Given the description of an element on the screen output the (x, y) to click on. 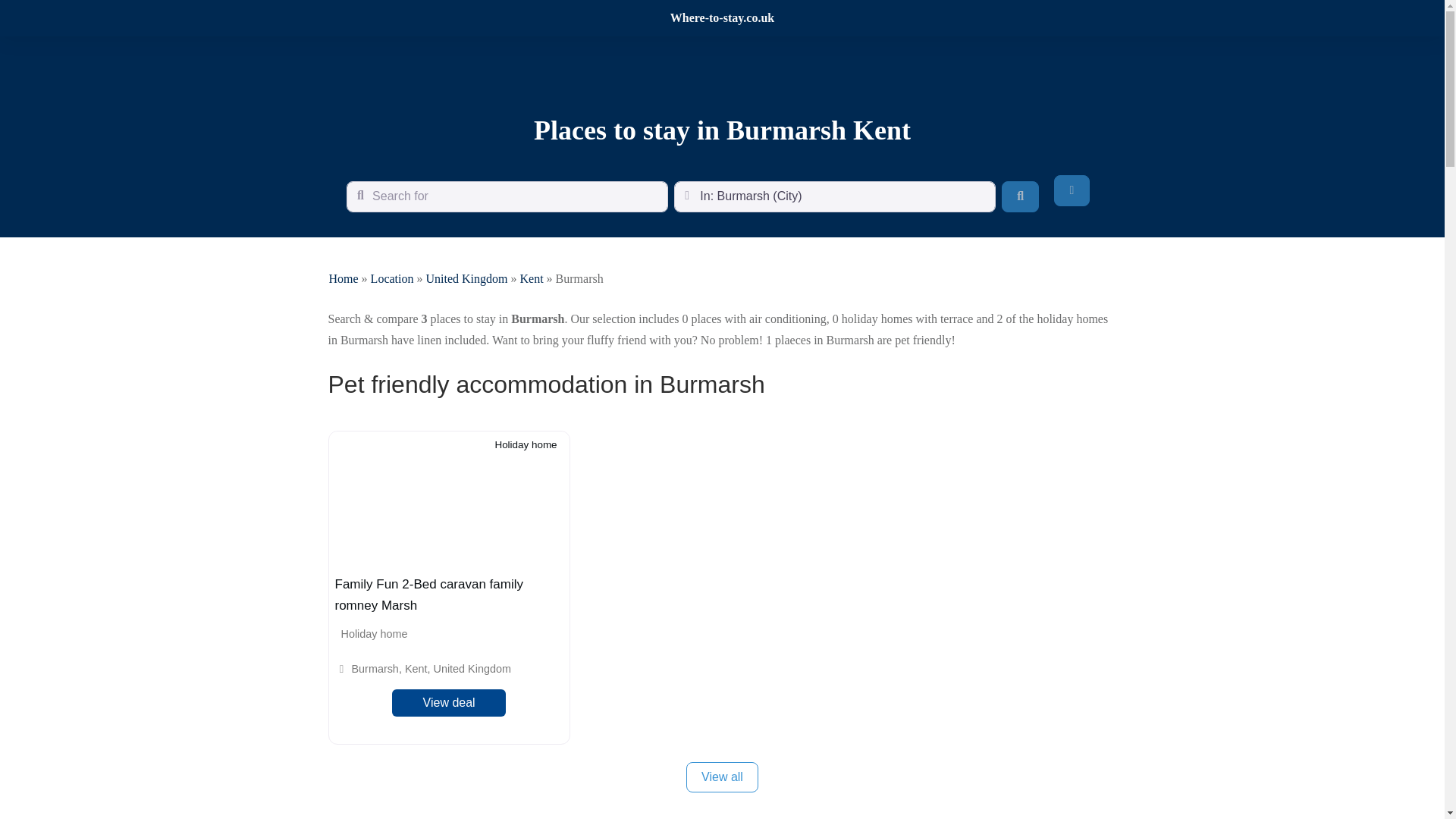
Advanced Filters (1071, 190)
United Kingdom (465, 278)
Location (392, 278)
Kent (531, 278)
Home (343, 278)
Search (1020, 195)
View all (721, 777)
View: Family Fun 2-Bed caravan family romney Marsh (428, 594)
Where-to-stay.co.uk (721, 17)
View deal (448, 702)
